Given the description of an element on the screen output the (x, y) to click on. 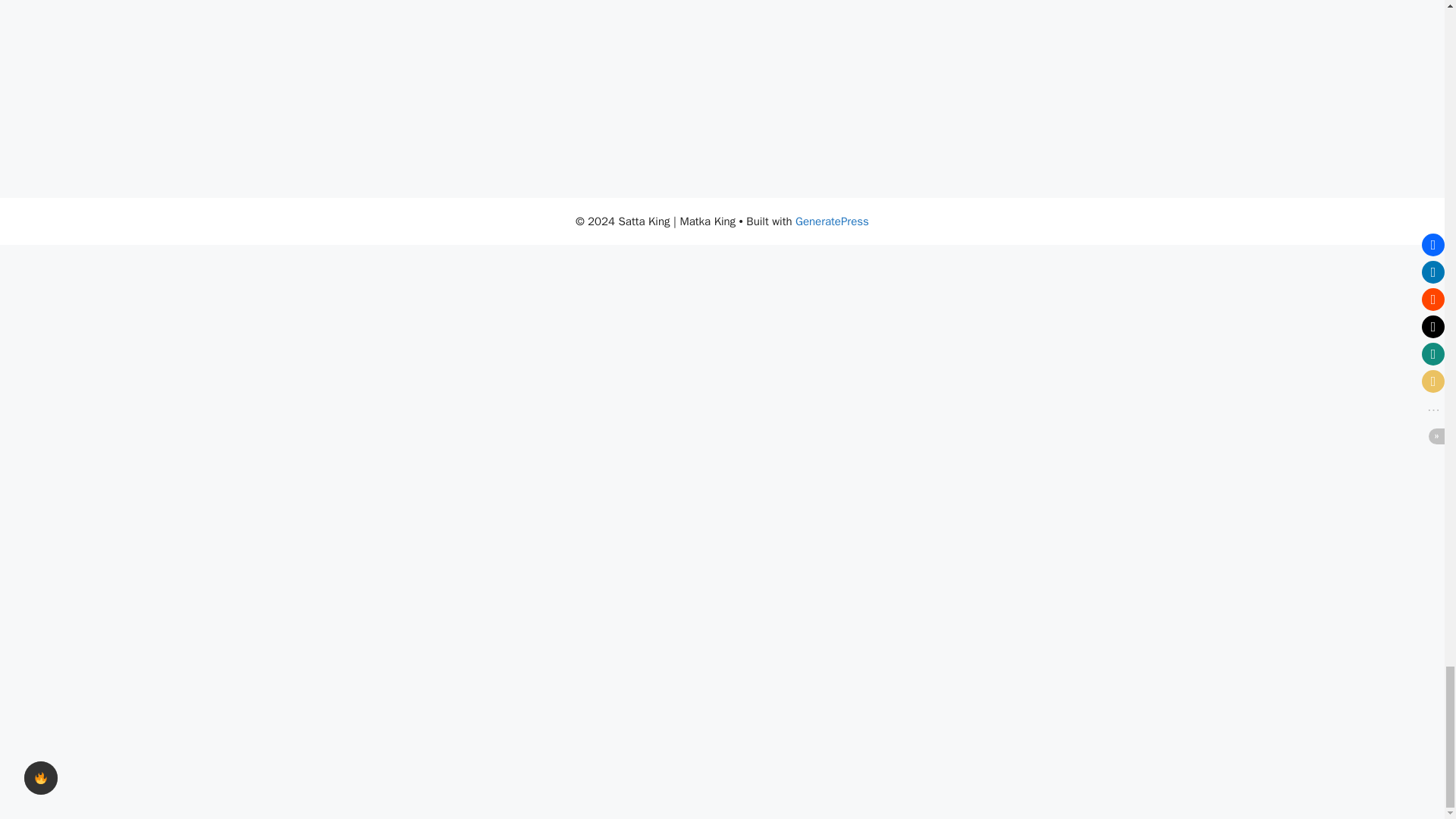
GeneratePress (831, 221)
